Given the description of an element on the screen output the (x, y) to click on. 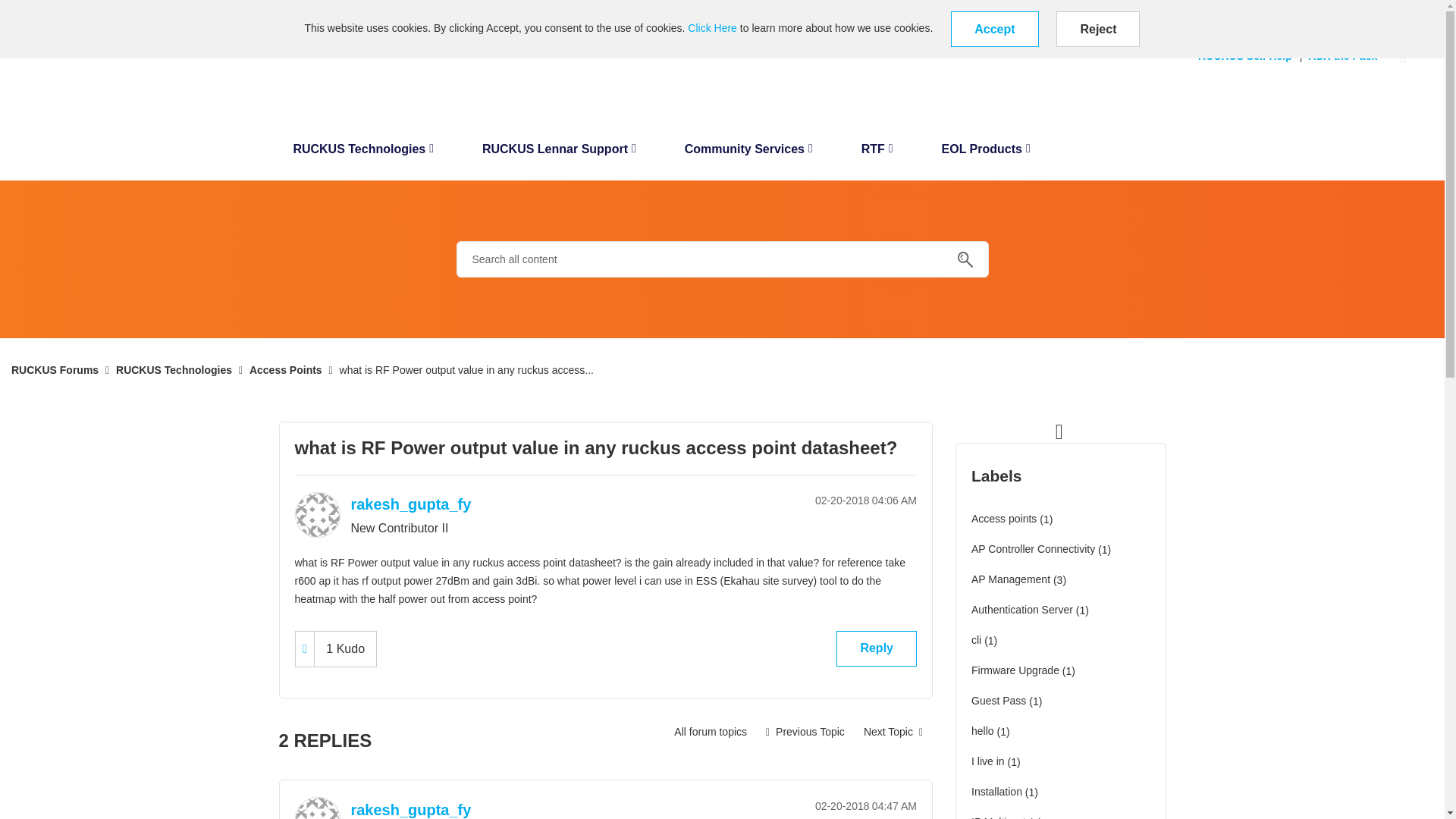
Accept (994, 28)
ASK the Pack (1345, 55)
Can anyone point me to docs for configuring a T301e? (893, 731)
BACK TO SUPPORT PORTAL (74, 10)
RTF (876, 153)
Community Services (748, 153)
RUCKUS Lennar Support (558, 153)
Correct Settings To Upgrade R500 Hotzone Wireless AP (804, 731)
Click Here (711, 28)
Search (722, 258)
